Given the description of an element on the screen output the (x, y) to click on. 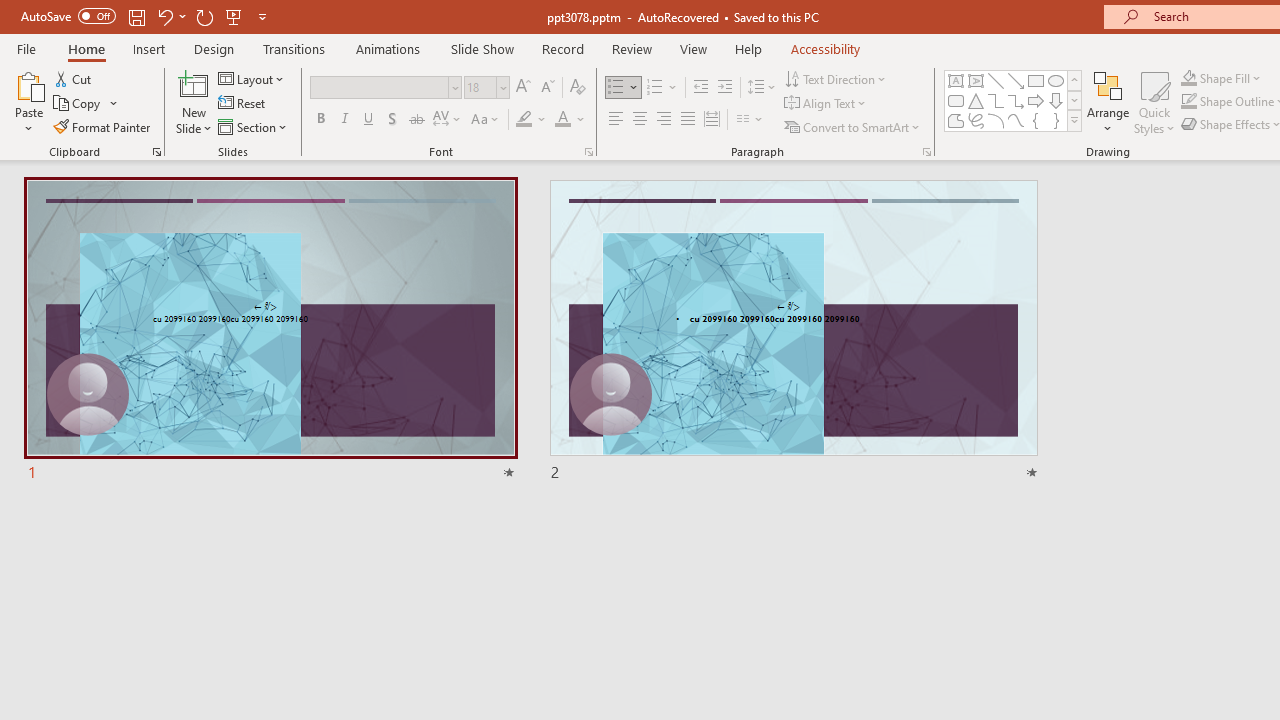
Font Size (480, 87)
Class: NetUIImage (1075, 120)
Animations (388, 48)
Paragraph... (926, 151)
Arrow: Right (1035, 100)
Quick Styles (1154, 102)
Font (385, 87)
Align Text (826, 103)
Text Direction (836, 78)
Bullets (616, 87)
Strikethrough (416, 119)
Save (136, 15)
Slide (794, 331)
Text Box (955, 80)
